Given the description of an element on the screen output the (x, y) to click on. 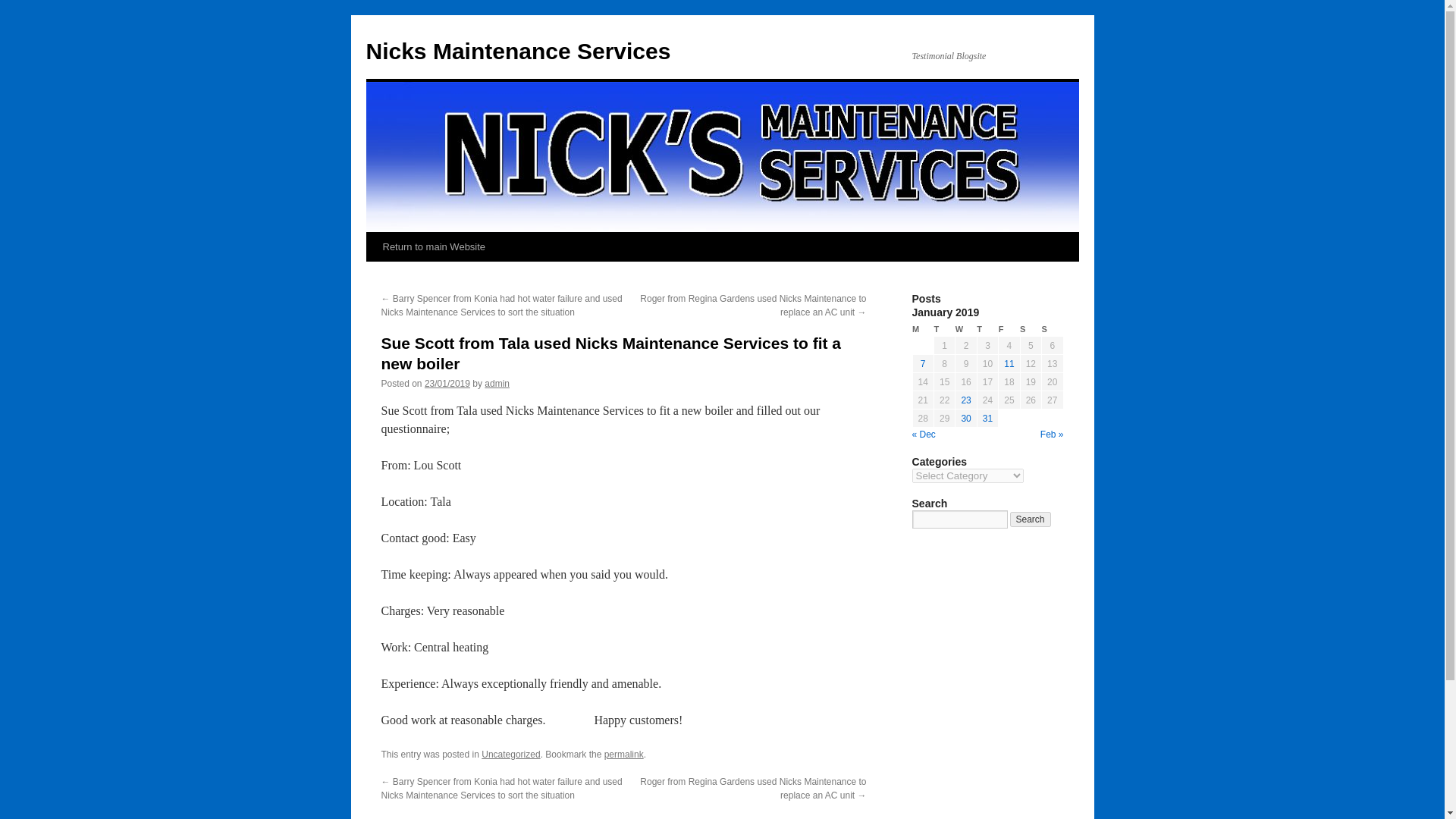
Wednesday (965, 329)
Tuesday (944, 329)
11 (1008, 363)
30 (965, 418)
Search (1030, 519)
Uncategorized (510, 754)
31 (987, 418)
permalink (623, 754)
04:38 pm (447, 383)
